Given the description of an element on the screen output the (x, y) to click on. 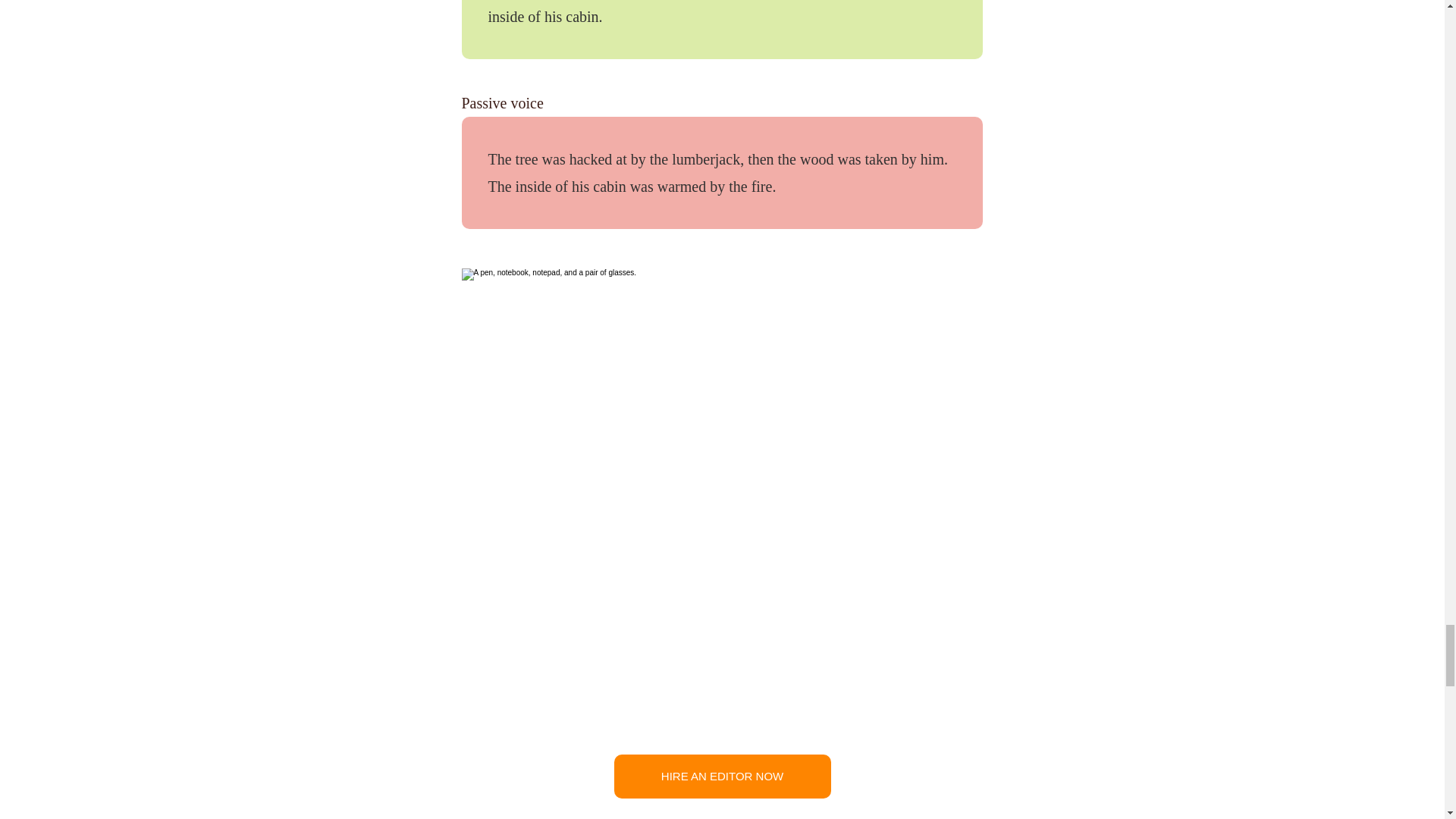
HIRE AN EDITOR NOW (722, 776)
